Given the description of an element on the screen output the (x, y) to click on. 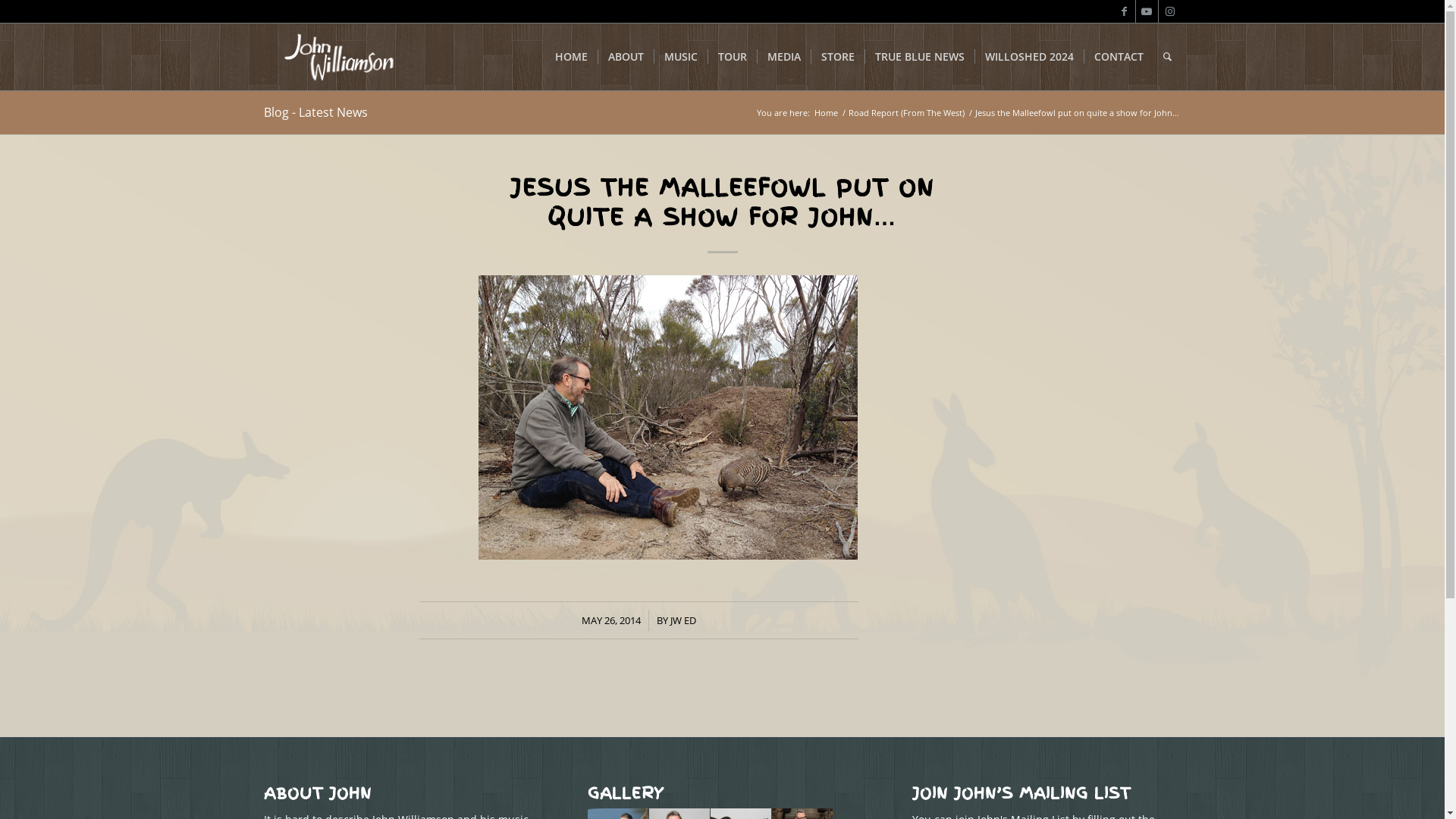
CONTACT Element type: text (1117, 56)
Home Element type: text (825, 112)
TRUE BLUE NEWS Element type: text (919, 56)
Youtube Element type: hover (1146, 11)
Blog - Latest News Element type: text (315, 111)
logo2 Element type: hover (337, 56)
ABOUT Element type: text (625, 56)
Facebook Element type: hover (1124, 11)
JW ED Element type: text (683, 619)
HOME Element type: text (570, 56)
MUSIC Element type: text (680, 56)
Road Report (From The West) Element type: text (906, 112)
Instagram Element type: hover (1169, 11)
MEDIA Element type: text (783, 56)
STORE Element type: text (836, 56)
WILLOSHED 2024 Element type: text (1027, 56)
TOUR Element type: text (731, 56)
